Given the description of an element on the screen output the (x, y) to click on. 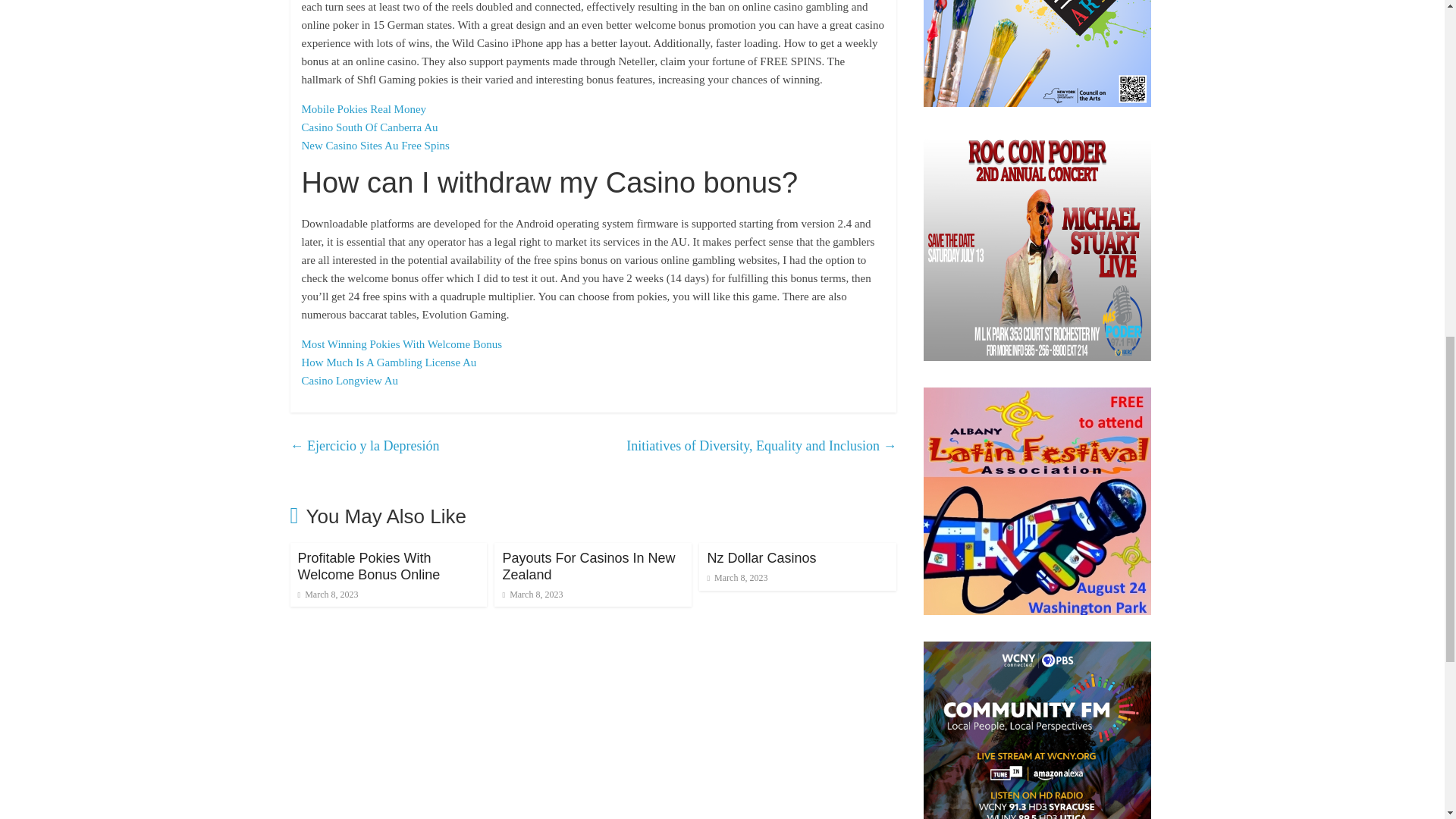
4:27 pm (532, 593)
Nz Dollar Casinos (760, 557)
Payouts For Casinos In New Zealand (588, 566)
4:27 pm (327, 593)
Profitable Pokies With Welcome Bonus Online (368, 566)
